Given the description of an element on the screen output the (x, y) to click on. 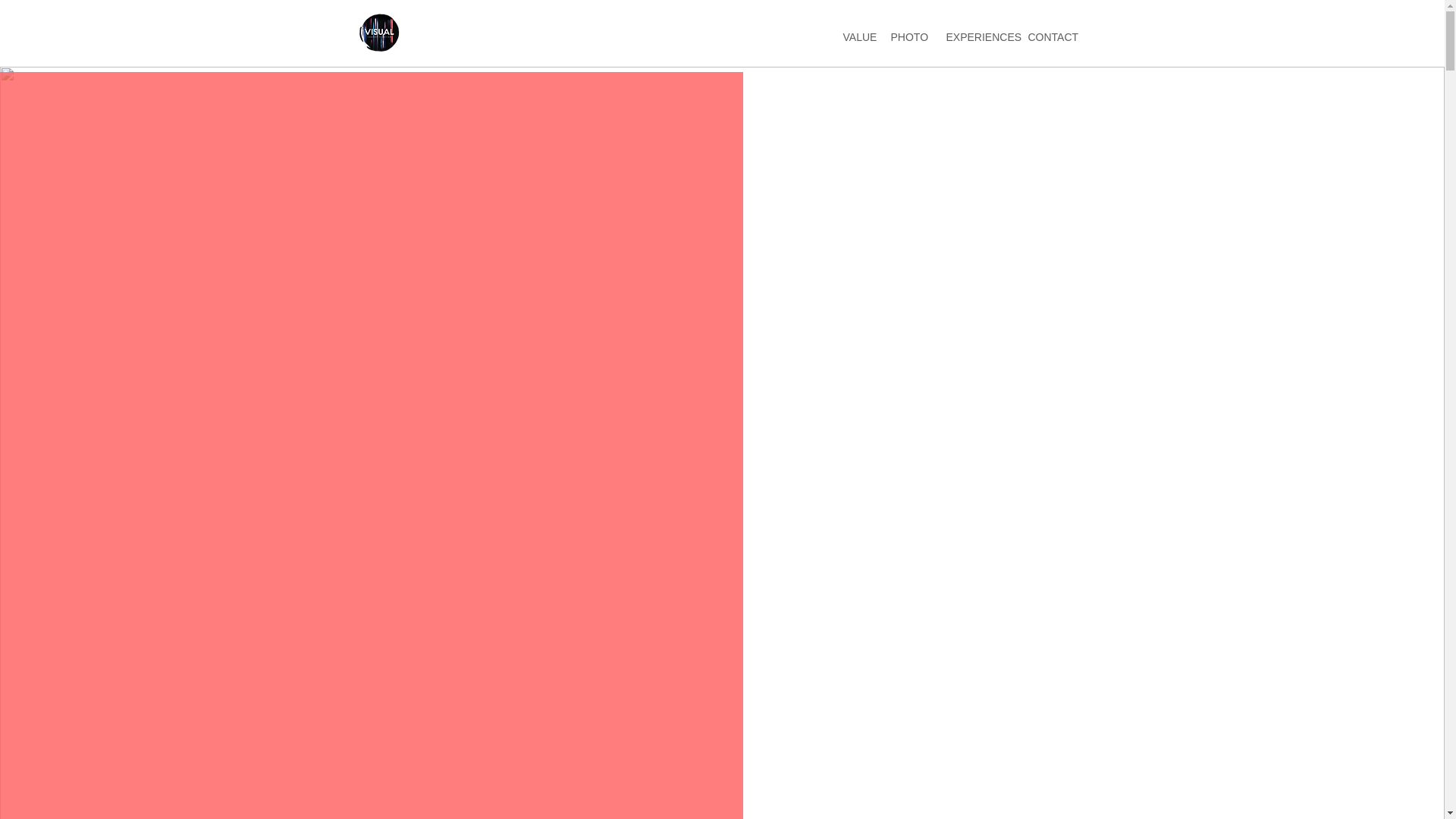
EXPERIENCES (976, 36)
CONTACT (1051, 36)
PHOTO (908, 36)
VALUE (856, 36)
